Given the description of an element on the screen output the (x, y) to click on. 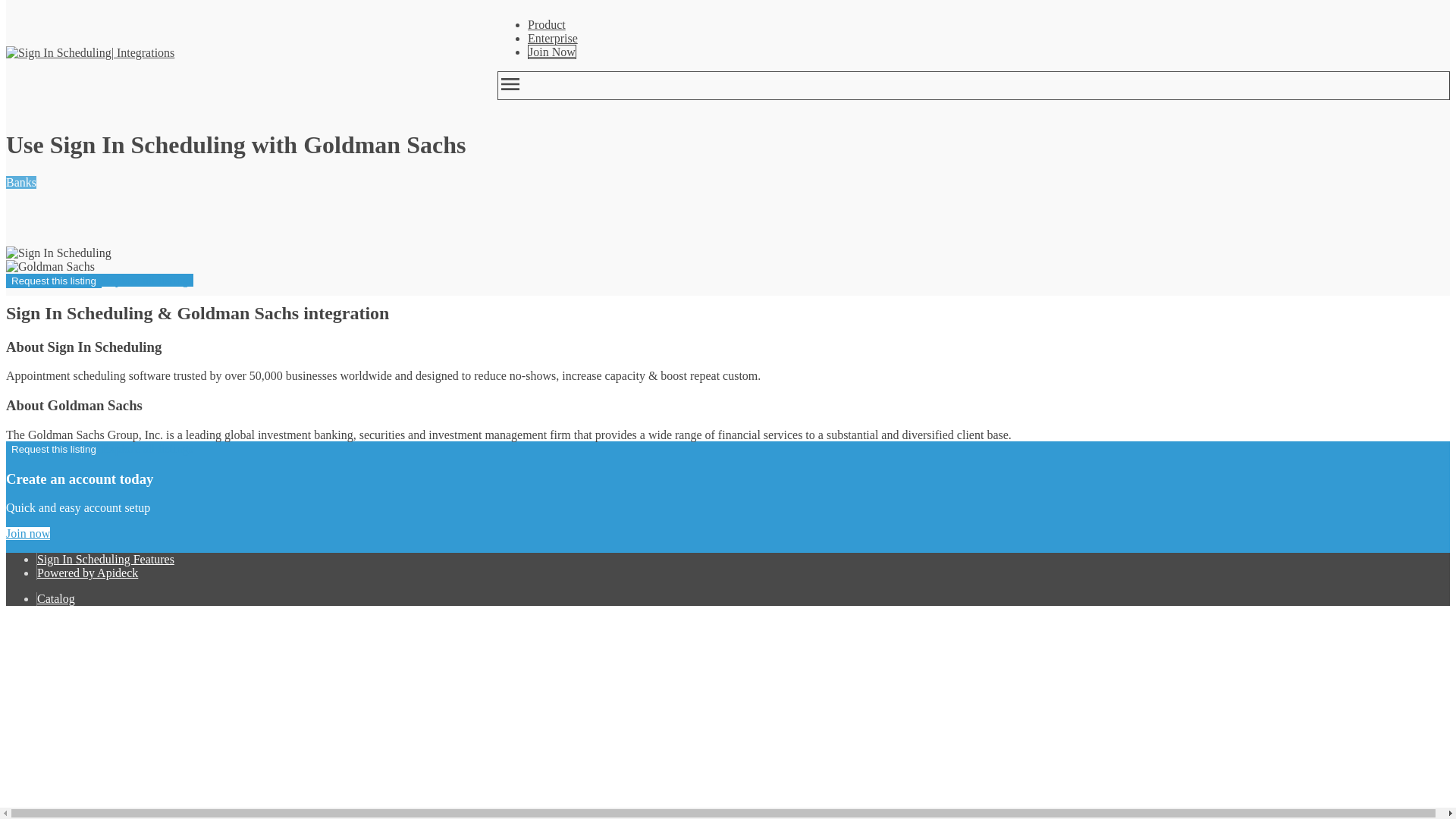
Product (546, 24)
Powered by Apideck (87, 572)
Catalog (56, 598)
Request this listing (53, 449)
Sign In Scheduling (58, 52)
Sign In Scheduling (58, 253)
Explore all listings (147, 279)
Explore all listings (147, 448)
Enterprise (552, 38)
Join Now (551, 51)
